Given the description of an element on the screen output the (x, y) to click on. 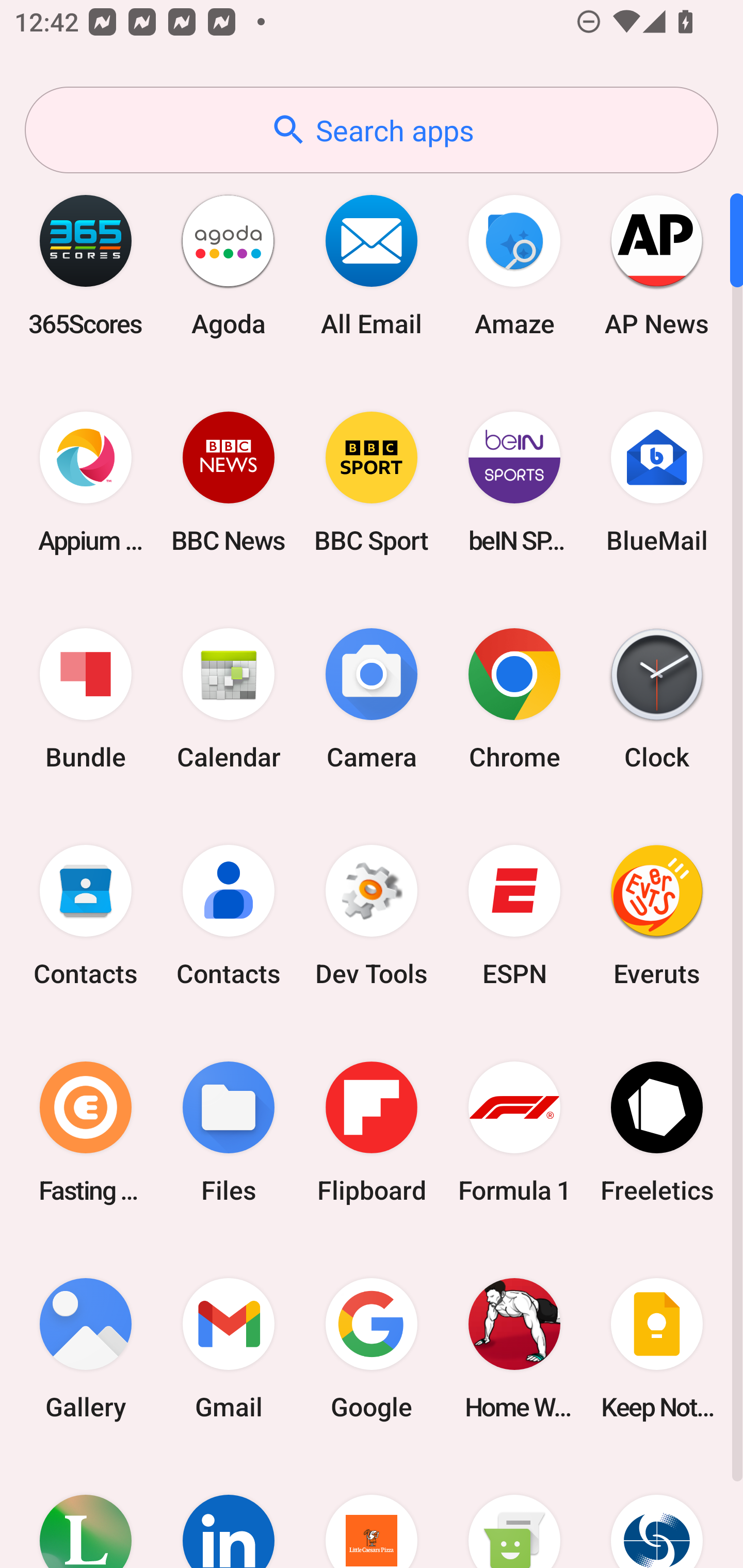
  Search apps (371, 130)
365Scores (85, 264)
Agoda (228, 264)
All Email (371, 264)
Amaze (514, 264)
AP News (656, 264)
Appium Settings (85, 482)
BBC News (228, 482)
BBC Sport (371, 482)
beIN SPORTS (514, 482)
BlueMail (656, 482)
Bundle (85, 699)
Calendar (228, 699)
Camera (371, 699)
Chrome (514, 699)
Clock (656, 699)
Contacts (85, 915)
Contacts (228, 915)
Dev Tools (371, 915)
ESPN (514, 915)
Everuts (656, 915)
Fasting Coach (85, 1131)
Files (228, 1131)
Flipboard (371, 1131)
Formula 1 (514, 1131)
Freeletics (656, 1131)
Gallery (85, 1348)
Gmail (228, 1348)
Google (371, 1348)
Home Workout (514, 1348)
Keep Notes (656, 1348)
